Given the description of an element on the screen output the (x, y) to click on. 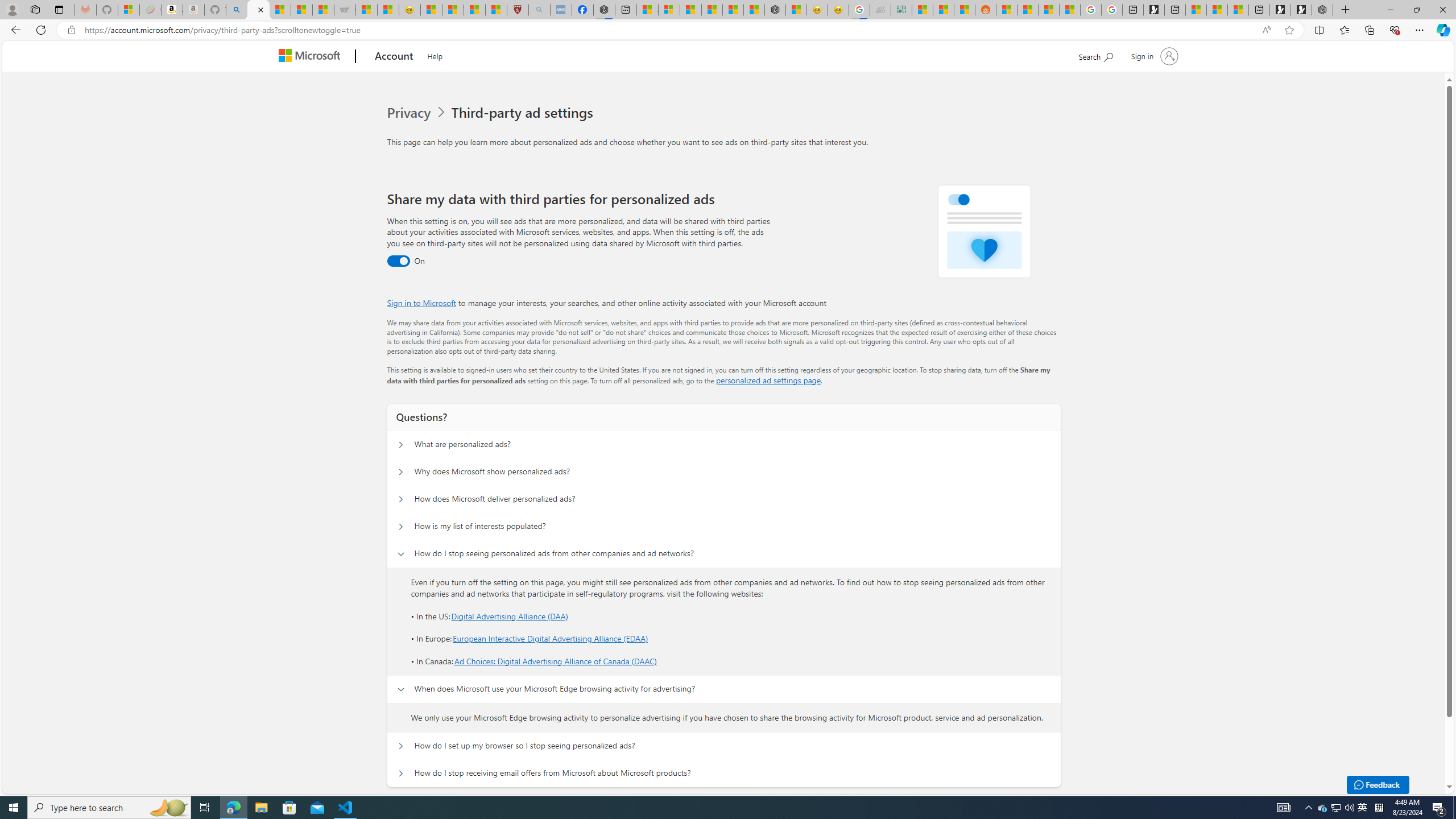
Recipes - MSN (431, 9)
Account (394, 56)
Navy Quest (879, 9)
MSNBC - MSN (922, 9)
Sign in to Microsoft (422, 302)
Combat Siege (345, 9)
